Given the description of an element on the screen output the (x, y) to click on. 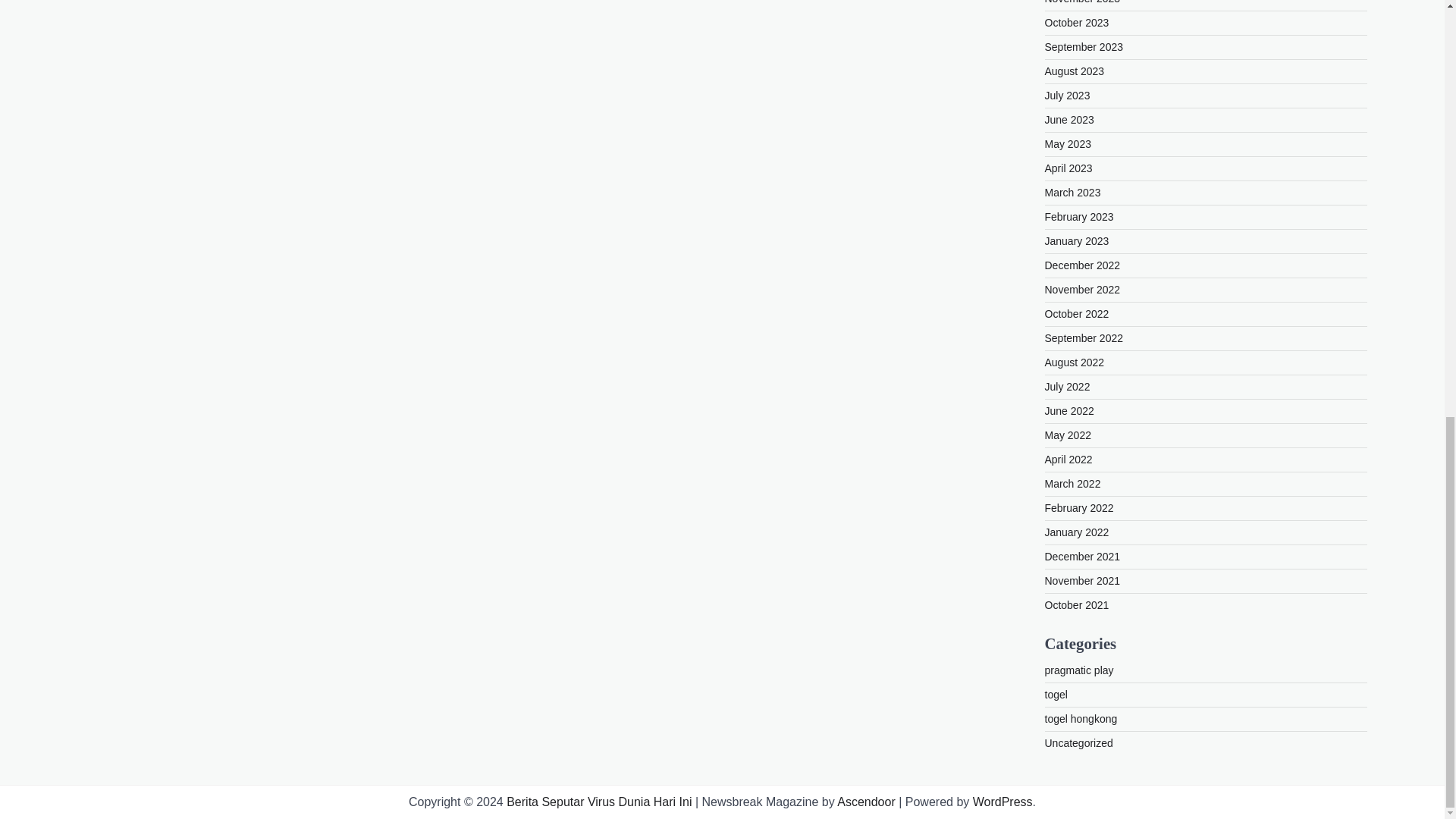
August 2023 (1075, 70)
September 2023 (1084, 46)
November 2023 (1083, 2)
July 2023 (1067, 95)
June 2023 (1069, 119)
October 2023 (1077, 22)
